Given the description of an element on the screen output the (x, y) to click on. 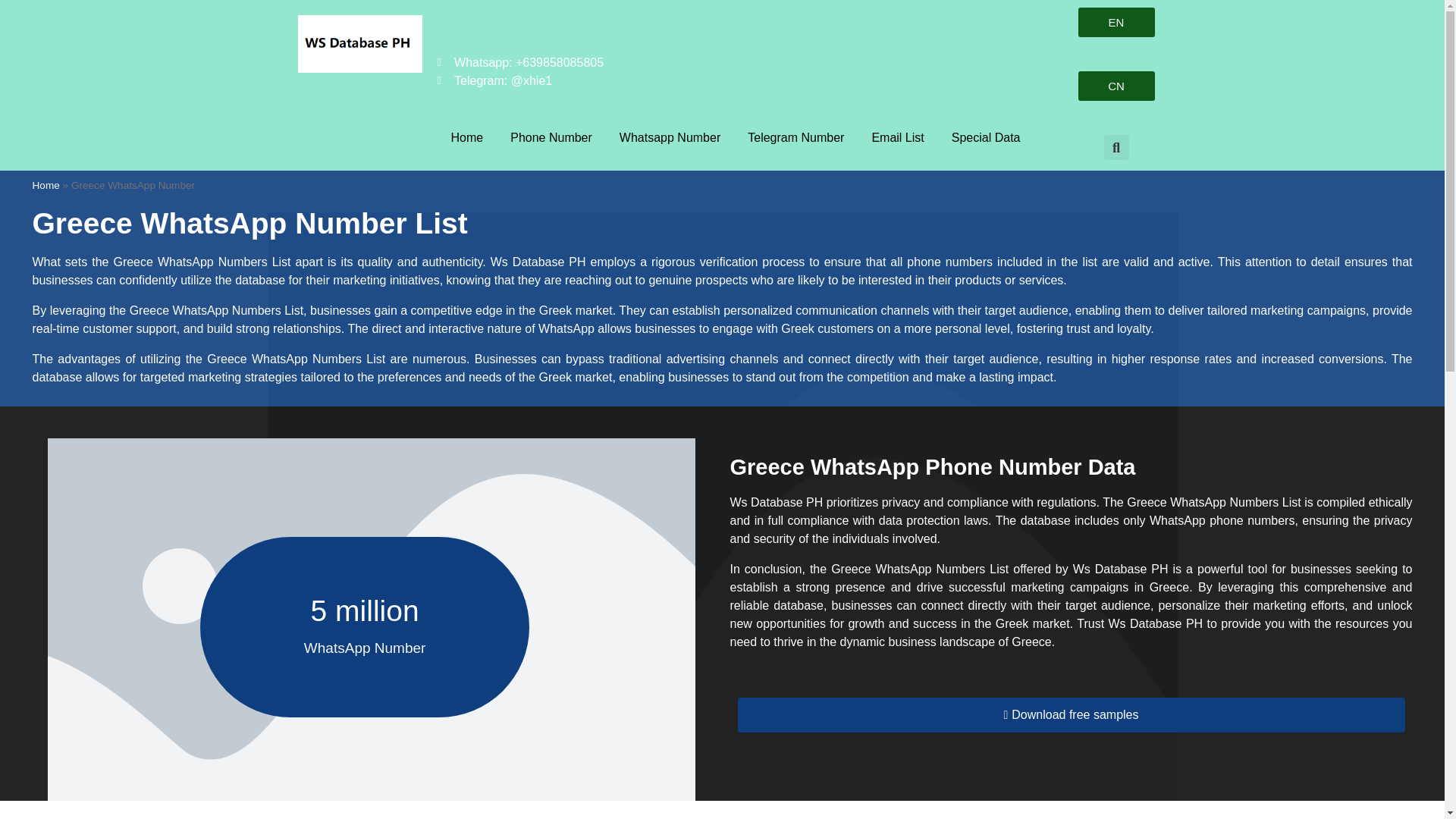
Download free samples (1070, 714)
Phone Number (550, 137)
Telegram Number (795, 137)
Home (45, 184)
Special Data (985, 137)
Home (467, 137)
EN (1116, 21)
Whatsapp Number (669, 137)
Email List (897, 137)
CN (1116, 85)
